Given the description of an element on the screen output the (x, y) to click on. 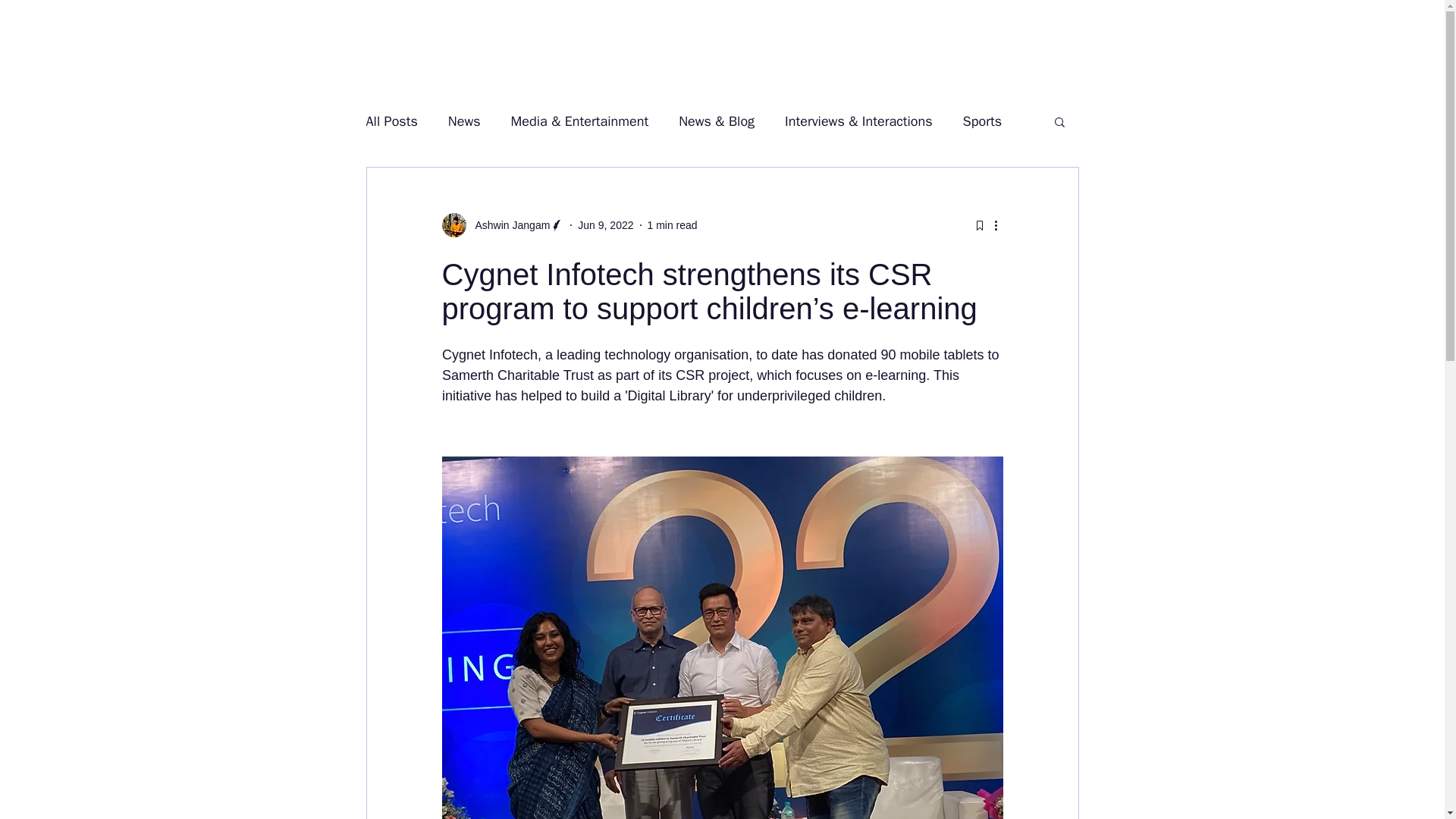
Ashwin Jangam (502, 224)
Sports (981, 121)
Ashwin Jangam  (507, 224)
News (464, 121)
1 min read (672, 224)
All Posts (390, 121)
Jun 9, 2022 (605, 224)
